Given the description of an element on the screen output the (x, y) to click on. 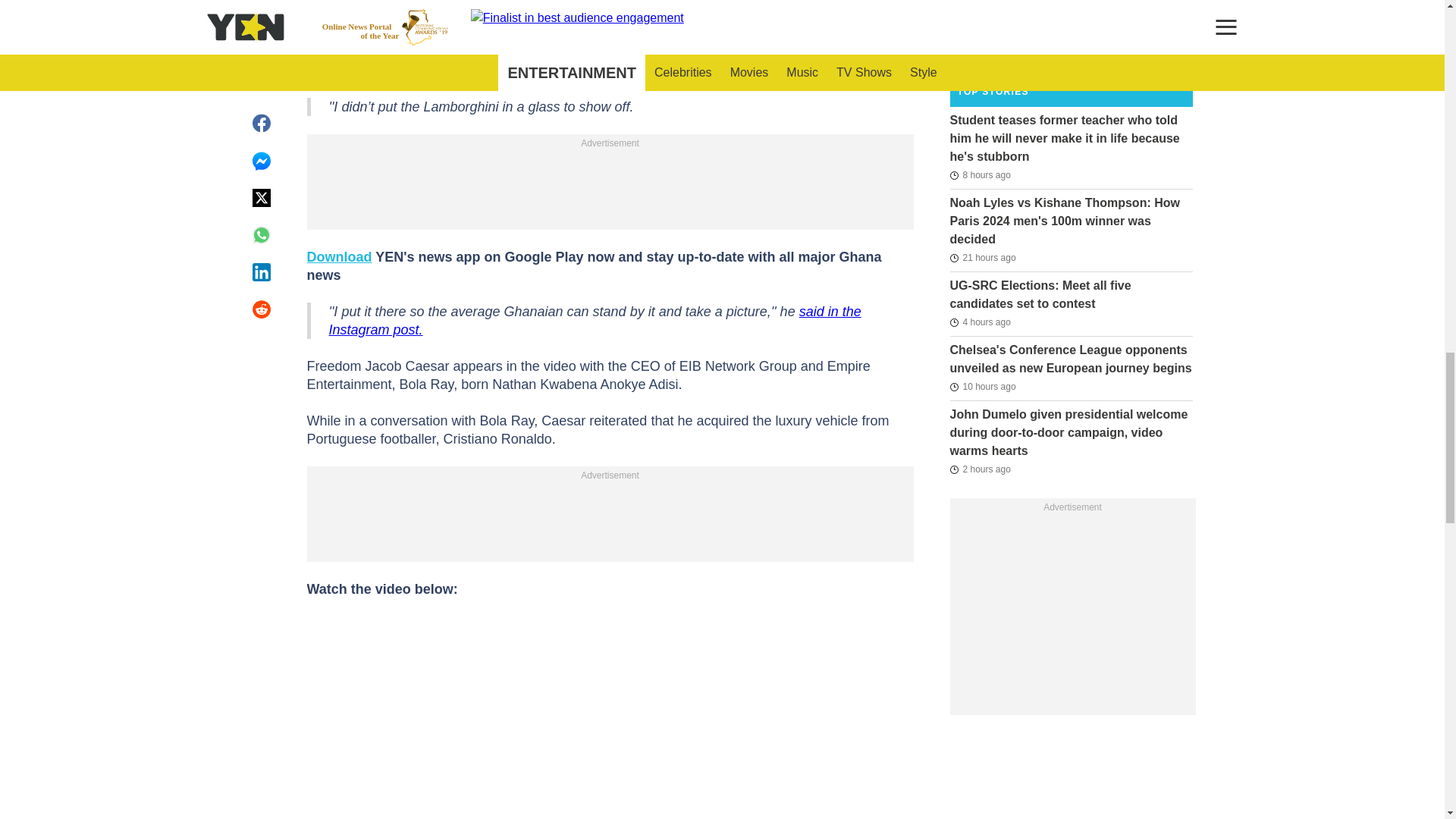
2018-10-31T11:30:32Z (979, 47)
2024-08-06T08:58:17Z (981, 386)
2024-08-06T11:32:36Z (979, 175)
2024-08-06T15:22:10Z (979, 321)
2024-08-05T22:39:35Z (981, 257)
2024-08-06T16:59:54Z (979, 469)
